Given the description of an element on the screen output the (x, y) to click on. 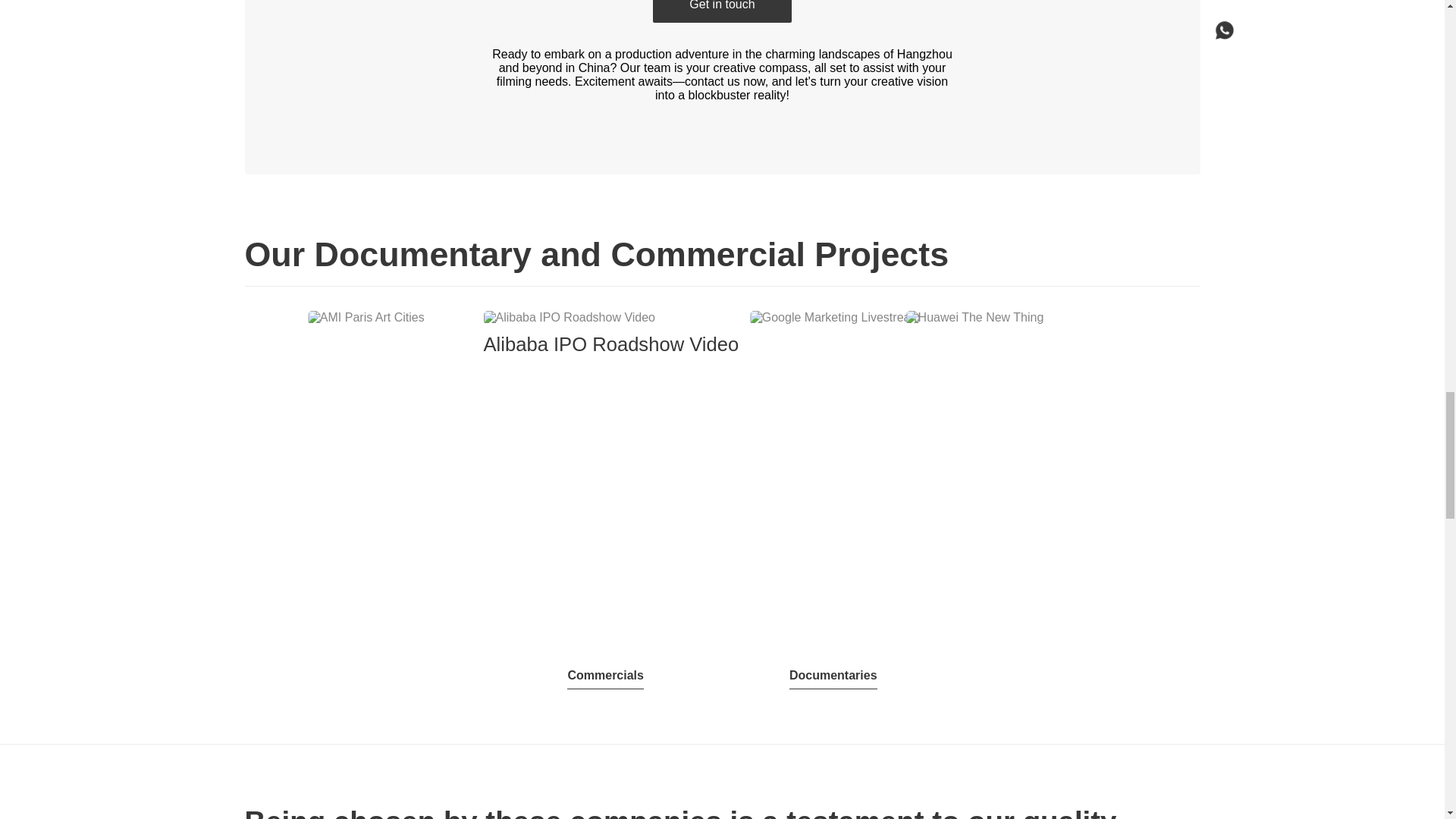
Documentaries (833, 675)
Commercials (605, 675)
Alibaba IPO Roadshow Video (611, 333)
Get in touch (721, 11)
